Given the description of an element on the screen output the (x, y) to click on. 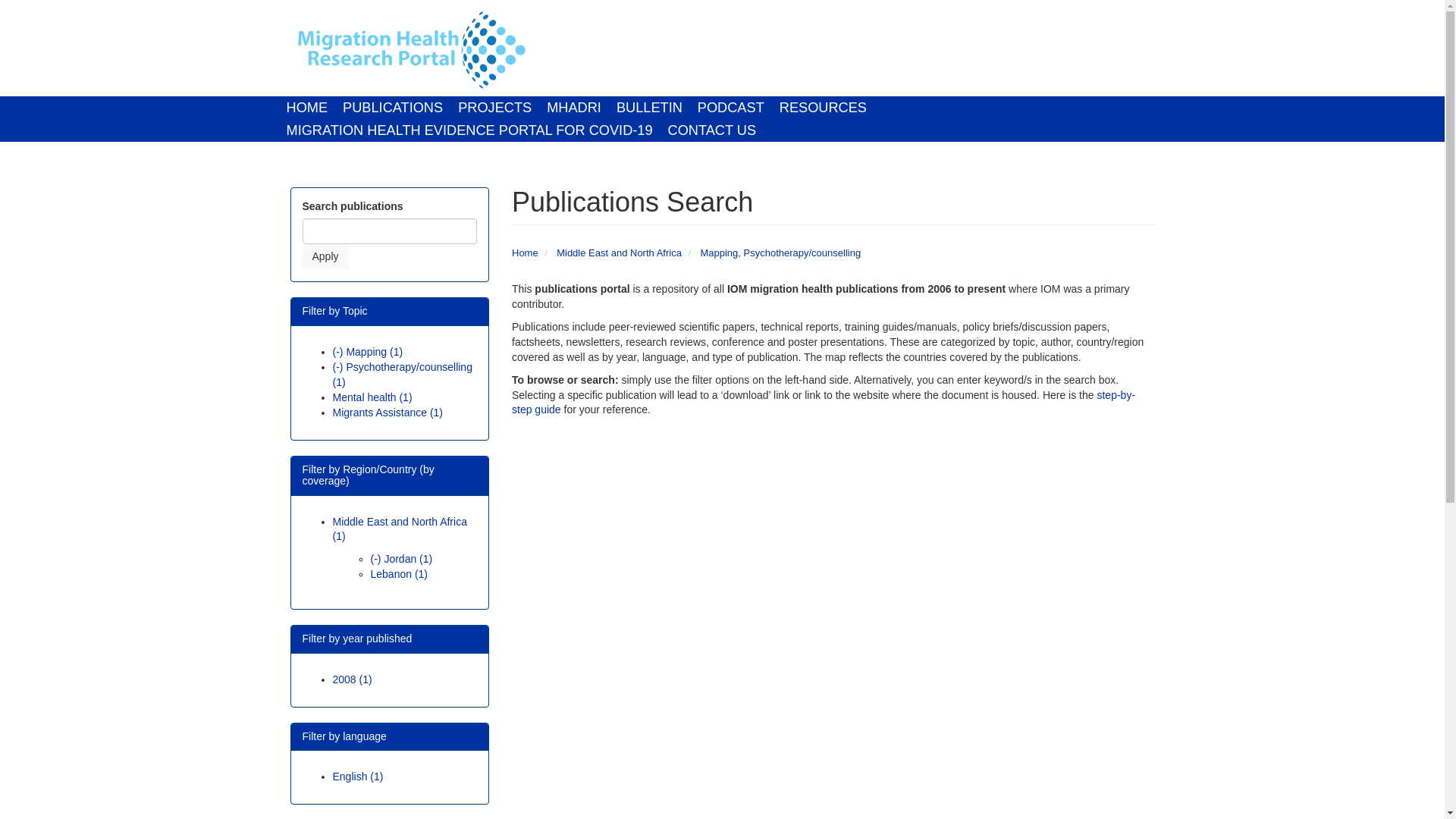
PODCAST (730, 107)
MHADRI (573, 107)
PROJECTS (493, 107)
CONTACT US (712, 129)
PUBLICATIONS (391, 107)
Middle East and North Africa (618, 252)
BULLETIN (649, 107)
HOME (307, 107)
step-by-step guide (823, 401)
Home (410, 49)
